Given the description of an element on the screen output the (x, y) to click on. 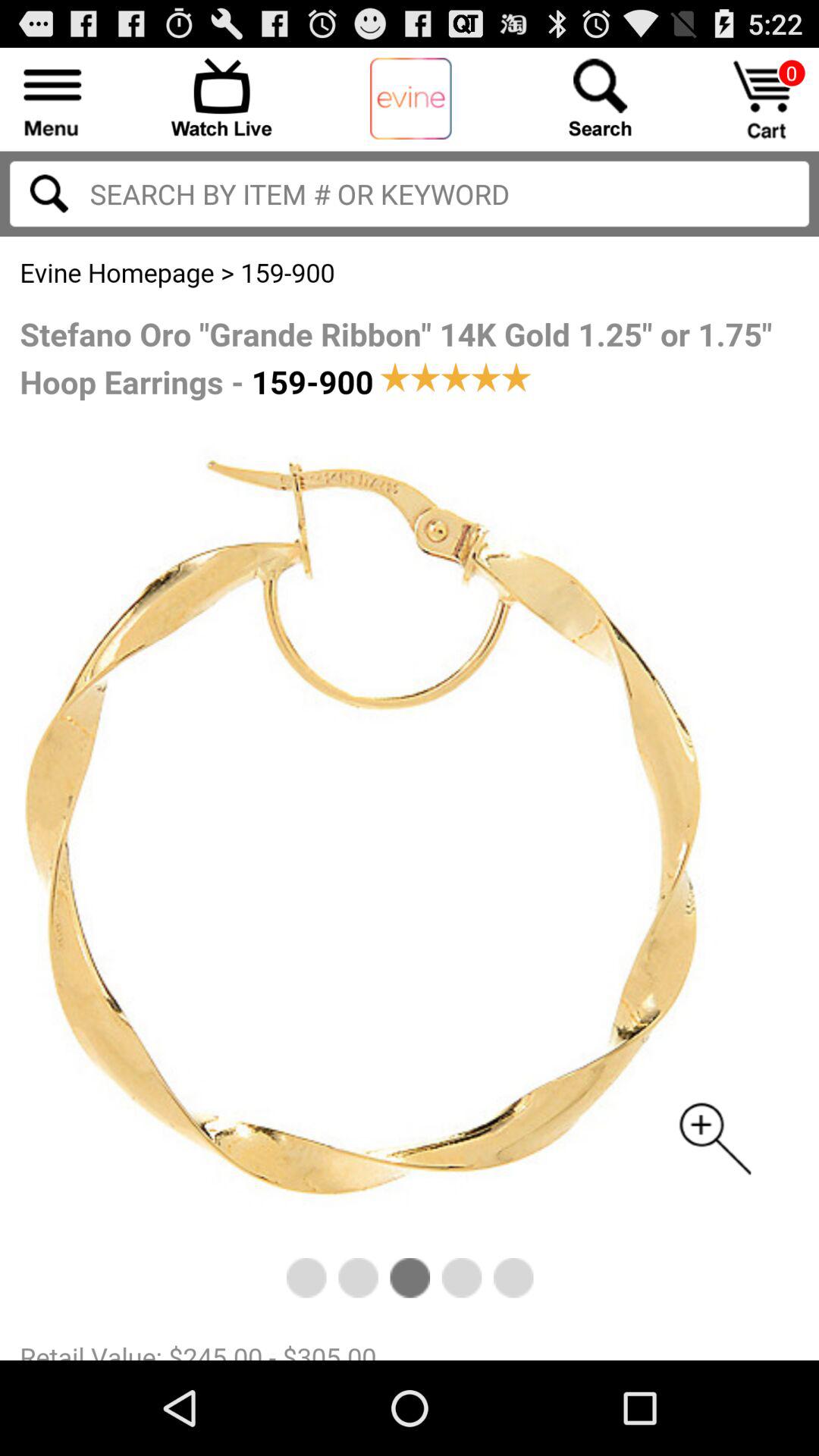
hoop earrings (409, 798)
